Given the description of an element on the screen output the (x, y) to click on. 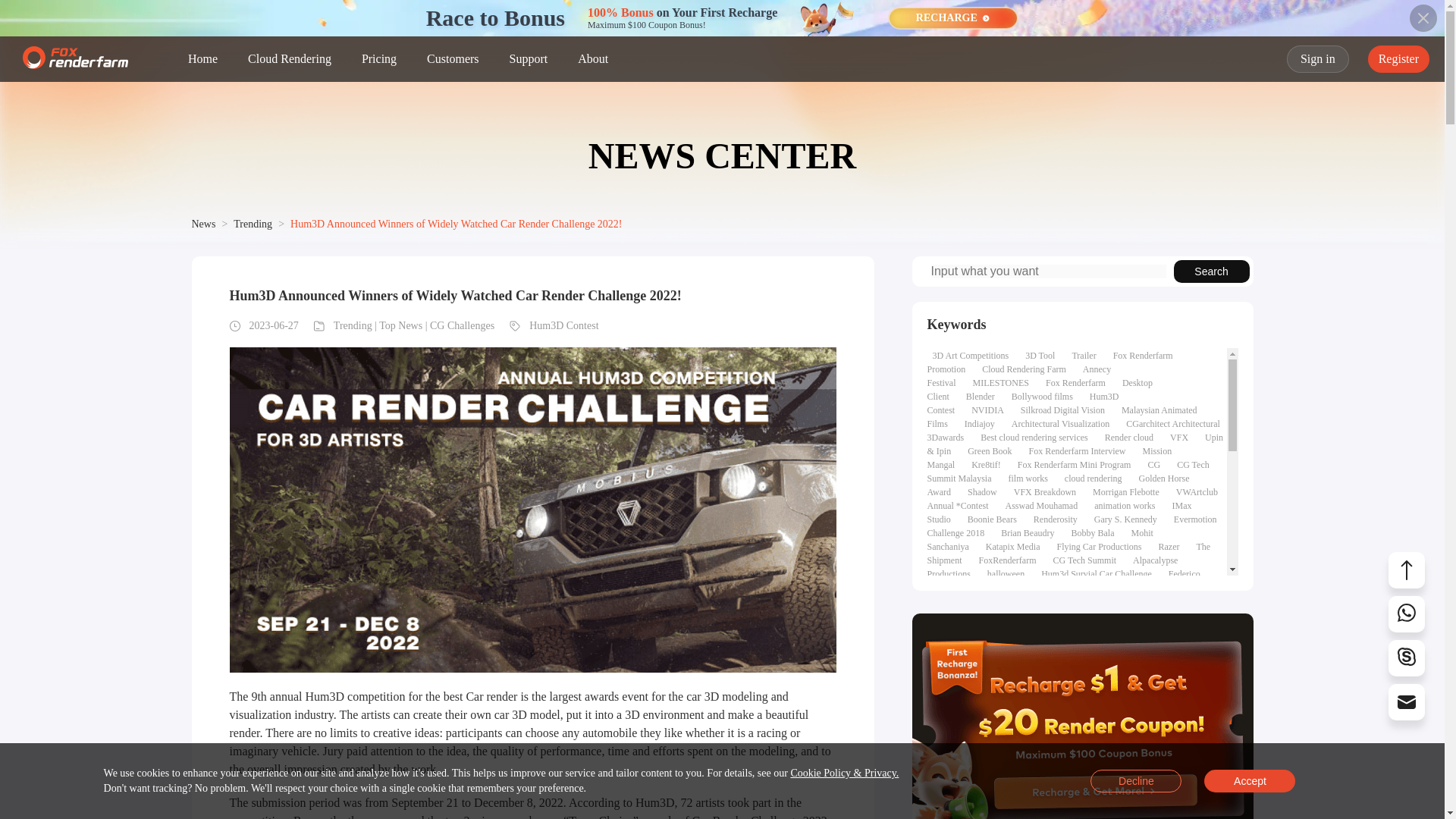
Trending (252, 224)
Cloud Rendering (289, 58)
Customers (451, 58)
Pricing (379, 58)
Sign in (1318, 58)
Home (202, 58)
Search (1211, 271)
Register (1398, 58)
News (202, 224)
